Given the description of an element on the screen output the (x, y) to click on. 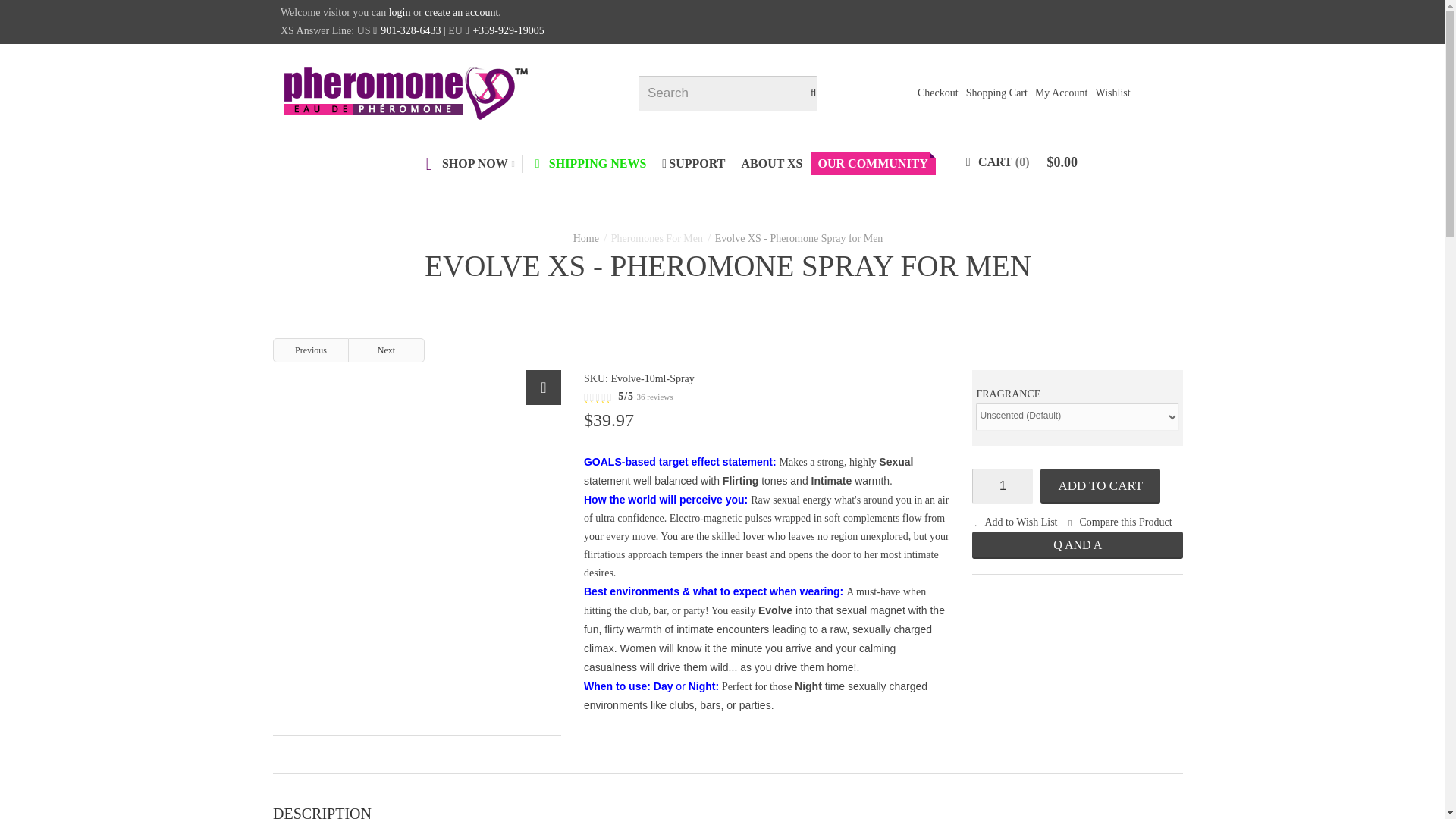
Checkout (937, 93)
login (399, 12)
901-328-6433 (410, 30)
My Account (1061, 93)
create an account (461, 12)
Wishlist (1113, 93)
1 (1002, 485)
Shopping Cart (996, 93)
SHOP NOW (469, 163)
